Given the description of an element on the screen output the (x, y) to click on. 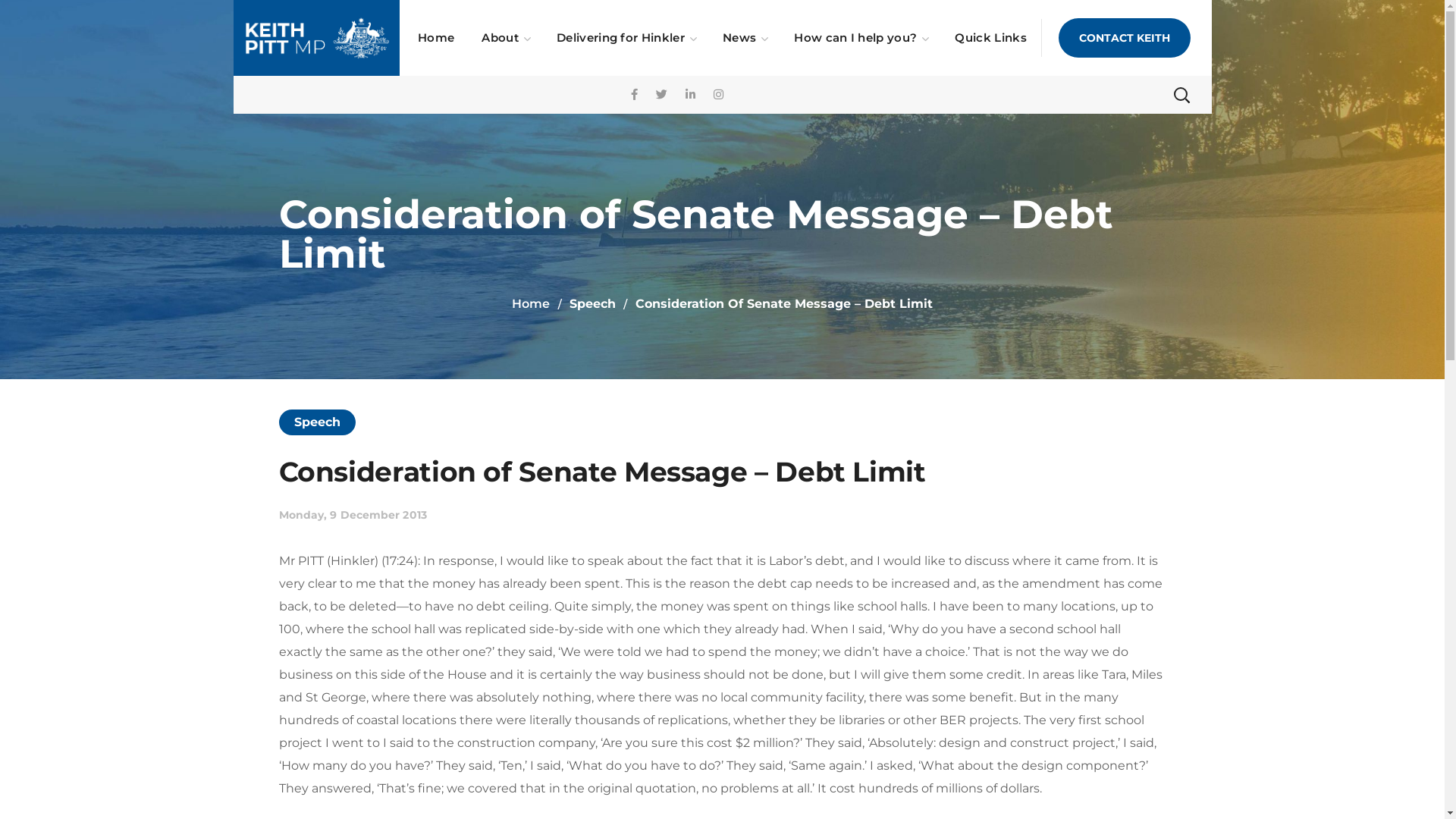
CONTACT KEITH Element type: text (1124, 37)
Quick Links Element type: text (990, 37)
How can I help you? Element type: text (860, 37)
Home Element type: text (435, 37)
Home Element type: text (530, 303)
Speech Element type: text (592, 303)
Search Element type: text (1141, 151)
Speech Element type: text (317, 422)
Delivering for Hinkler Element type: text (625, 37)
News Element type: text (744, 37)
About Element type: text (504, 37)
